Given the description of an element on the screen output the (x, y) to click on. 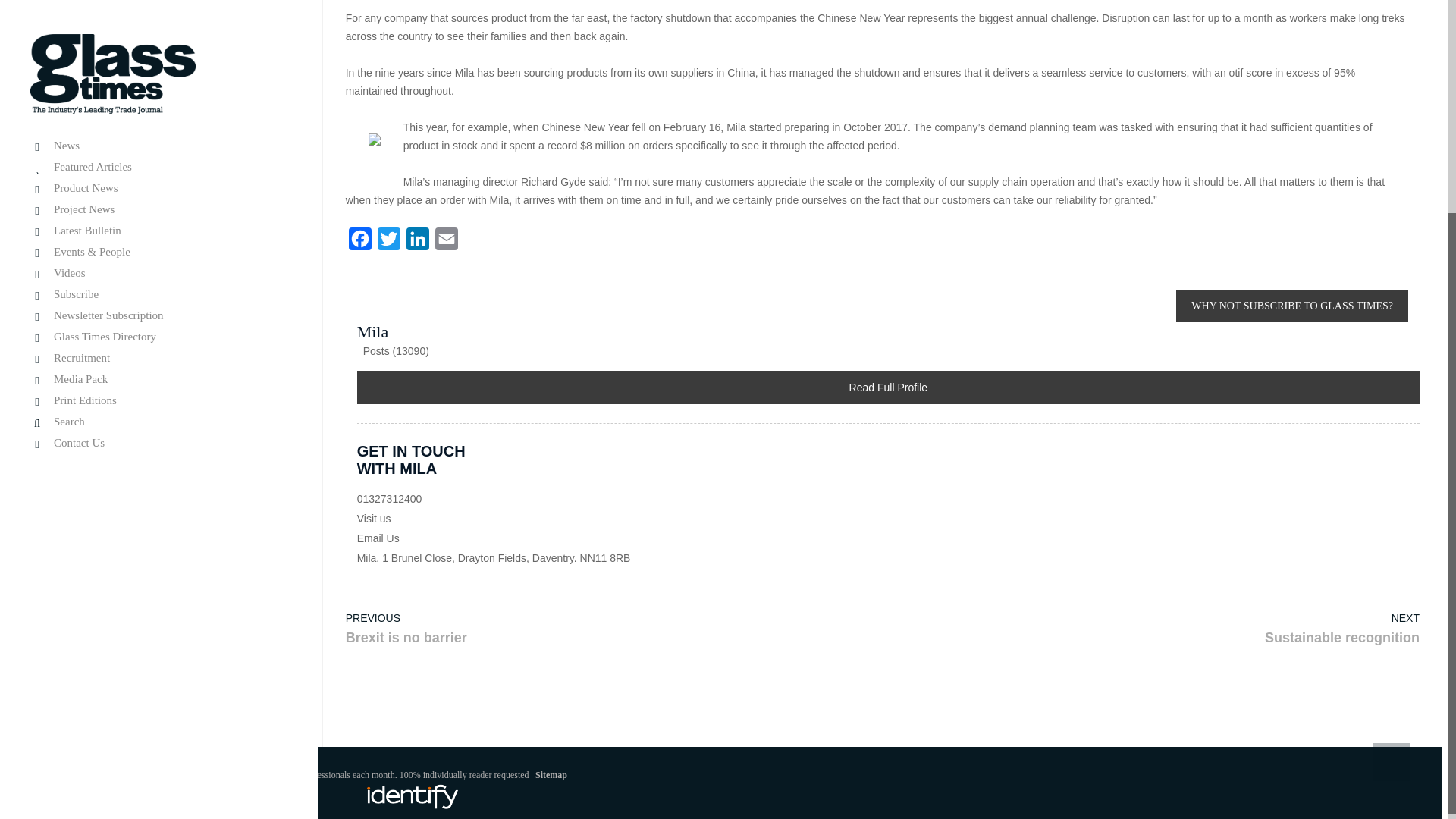
Newsletter Subscription (159, 24)
Contact Us (159, 152)
Print Editions (159, 110)
Recruitment (159, 67)
Search (159, 131)
Subscribe (159, 5)
Media Pack (159, 88)
Glass Times Directory (159, 46)
